Given the description of an element on the screen output the (x, y) to click on. 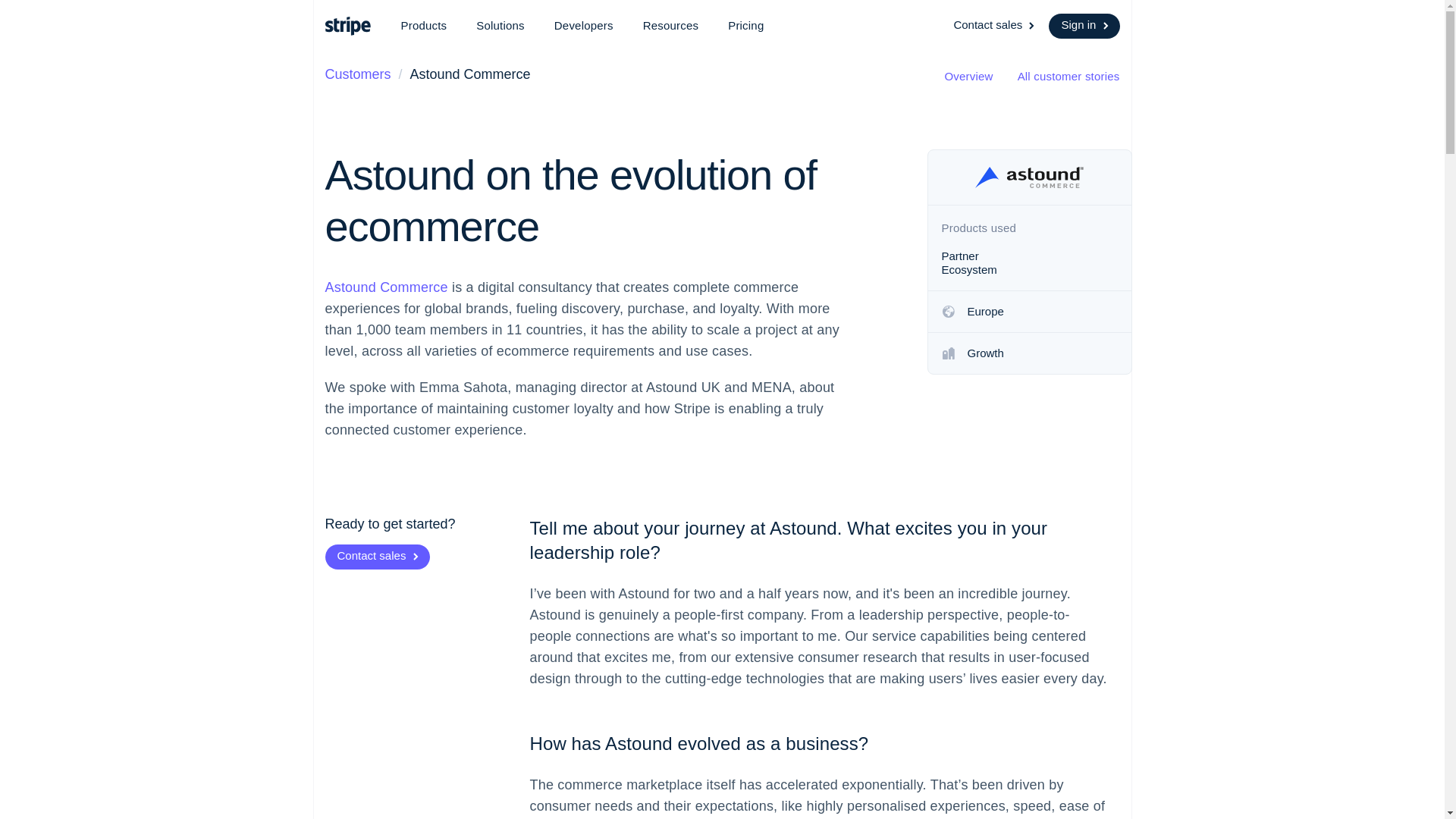
Solutions (500, 25)
Resources (670, 25)
Contact sales  (994, 25)
Pricing (745, 25)
Developers (583, 25)
Sign in  (1083, 25)
Products (423, 25)
